Given the description of an element on the screen output the (x, y) to click on. 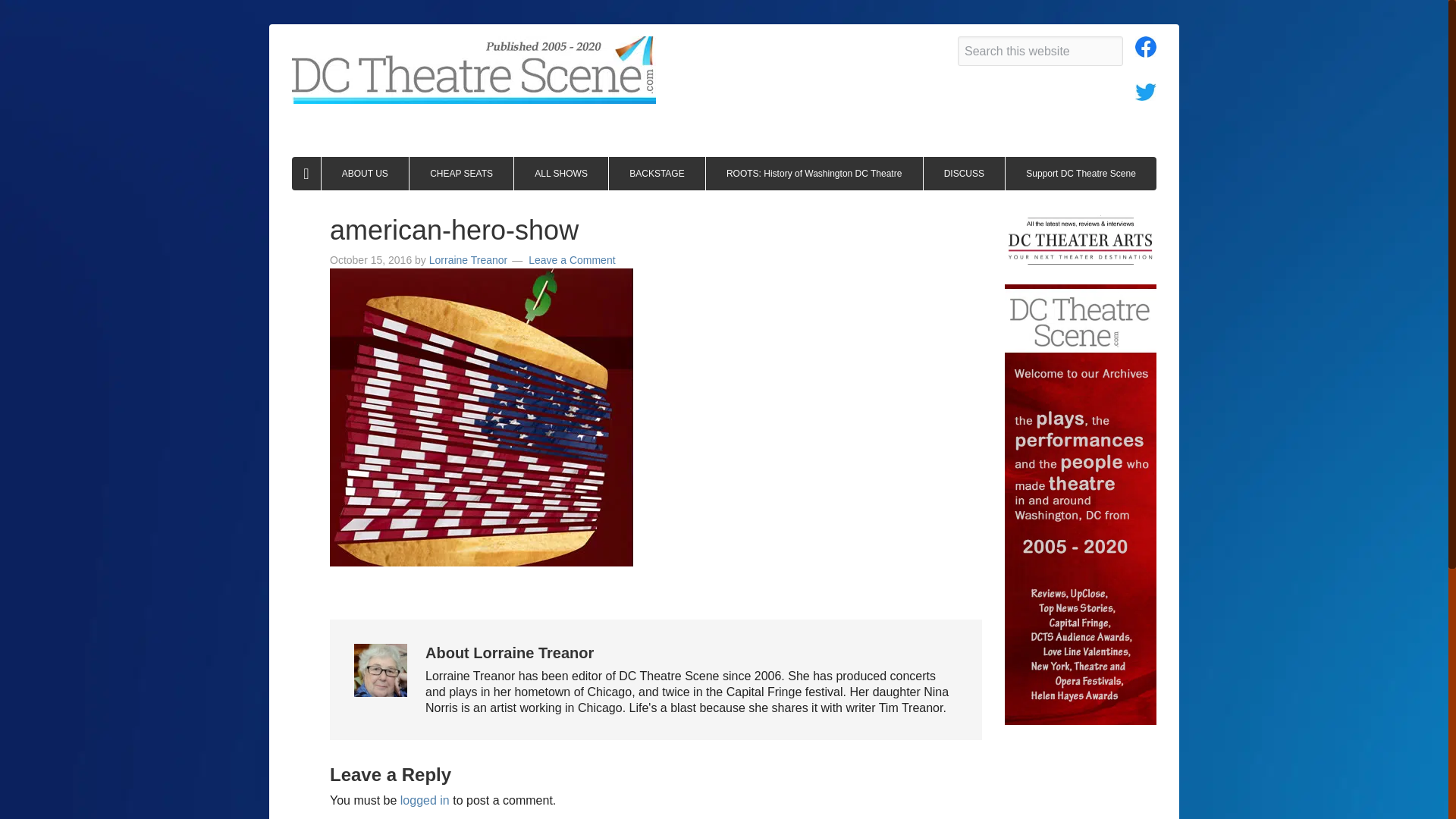
Follow DC Theatre Scene on Twitter (1145, 93)
ABOUT US (365, 173)
Lorraine Treanor (468, 259)
logged in (424, 799)
DISCUSS (964, 173)
Support DC Theatre Scene (1081, 173)
ALL SHOWS (560, 173)
Leave a Comment (571, 259)
ROOTS: History of Washington DC Theatre (814, 173)
BACKSTAGE (657, 173)
Follow DC Theatre Scene on Facebook (1145, 51)
CHEAP SEATS (461, 173)
